Given the description of an element on the screen output the (x, y) to click on. 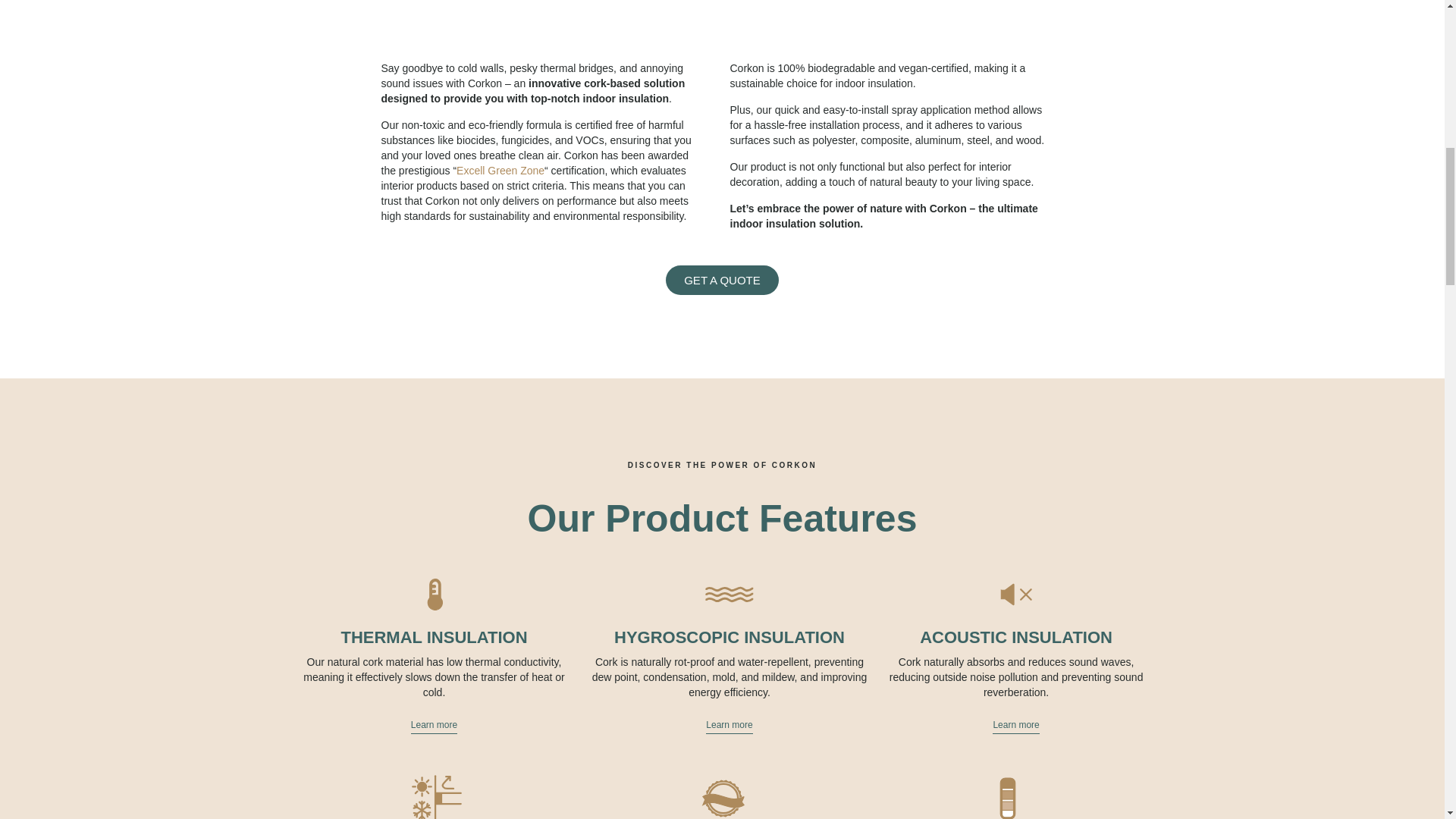
GET A QUOTE (721, 279)
Excell Green Zone (500, 170)
Learn more (433, 724)
